Given the description of an element on the screen output the (x, y) to click on. 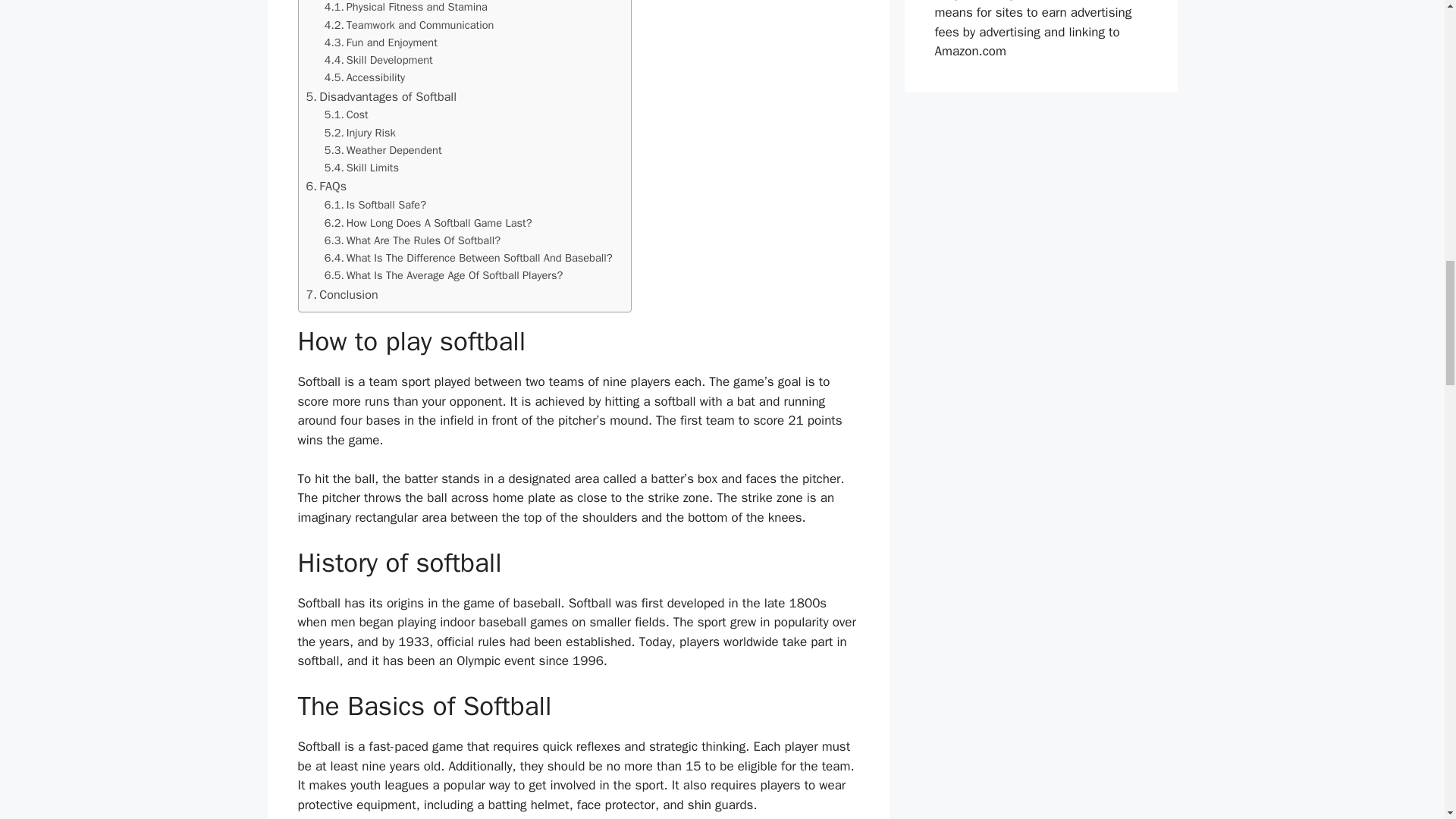
FAQs  (327, 186)
Fun and Enjoyment (381, 42)
What Is The Difference Between Softball And Baseball?  (469, 257)
Injury Risk  (361, 132)
Disadvantages of Softball (381, 96)
Physical Fitness and Stamina (405, 7)
Disadvantages of Softball (381, 96)
Cost (346, 114)
Skill Development (378, 59)
How Long Does A Softball Game Last?  (429, 222)
